Given the description of an element on the screen output the (x, y) to click on. 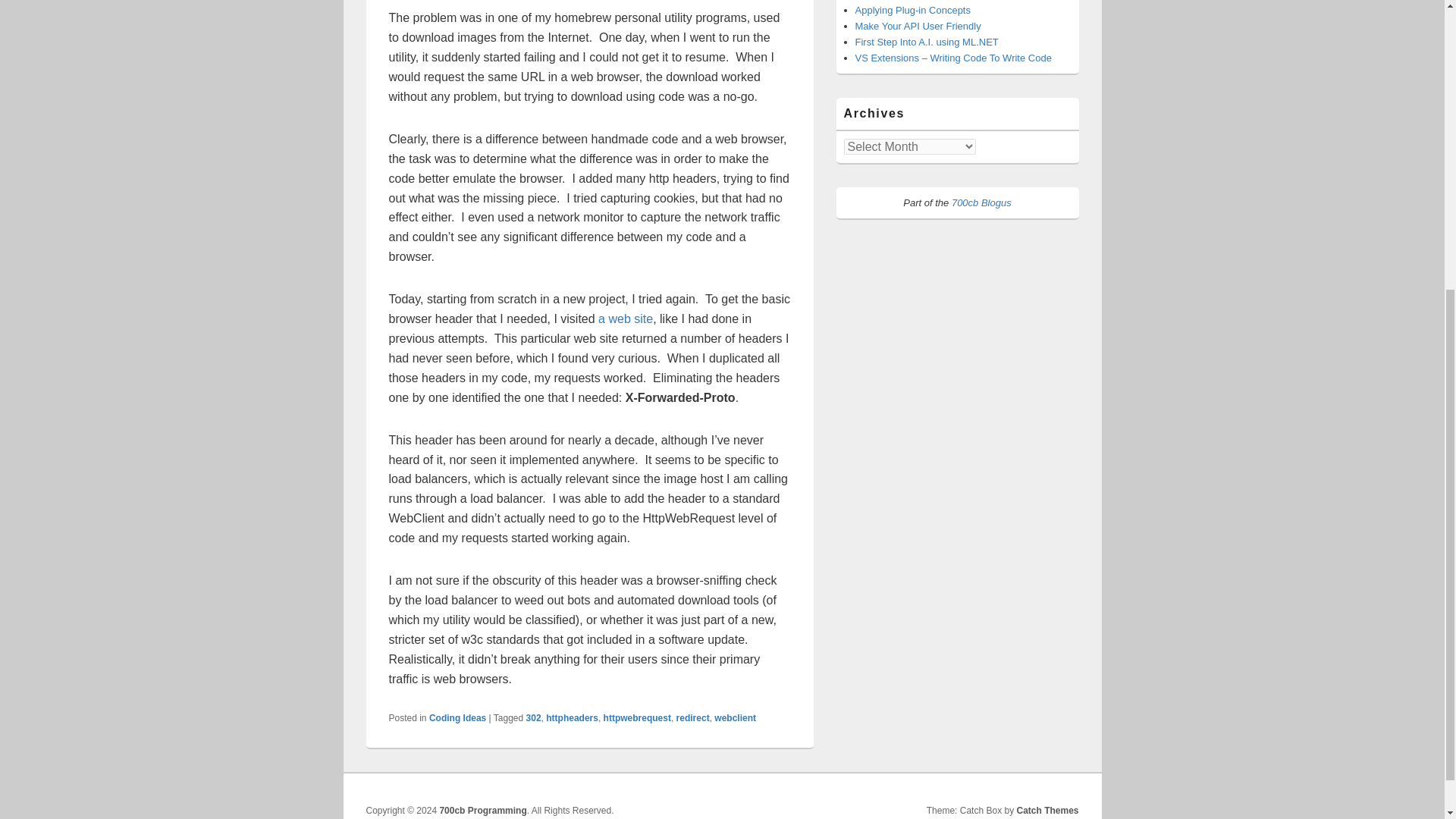
700cb Programming (482, 810)
redirect (693, 717)
httpheaders (572, 717)
Coding Ideas (457, 717)
a web site (625, 318)
302 (533, 717)
httpwebrequest (637, 717)
webclient (734, 717)
Catch Themes (1047, 810)
